Given the description of an element on the screen output the (x, y) to click on. 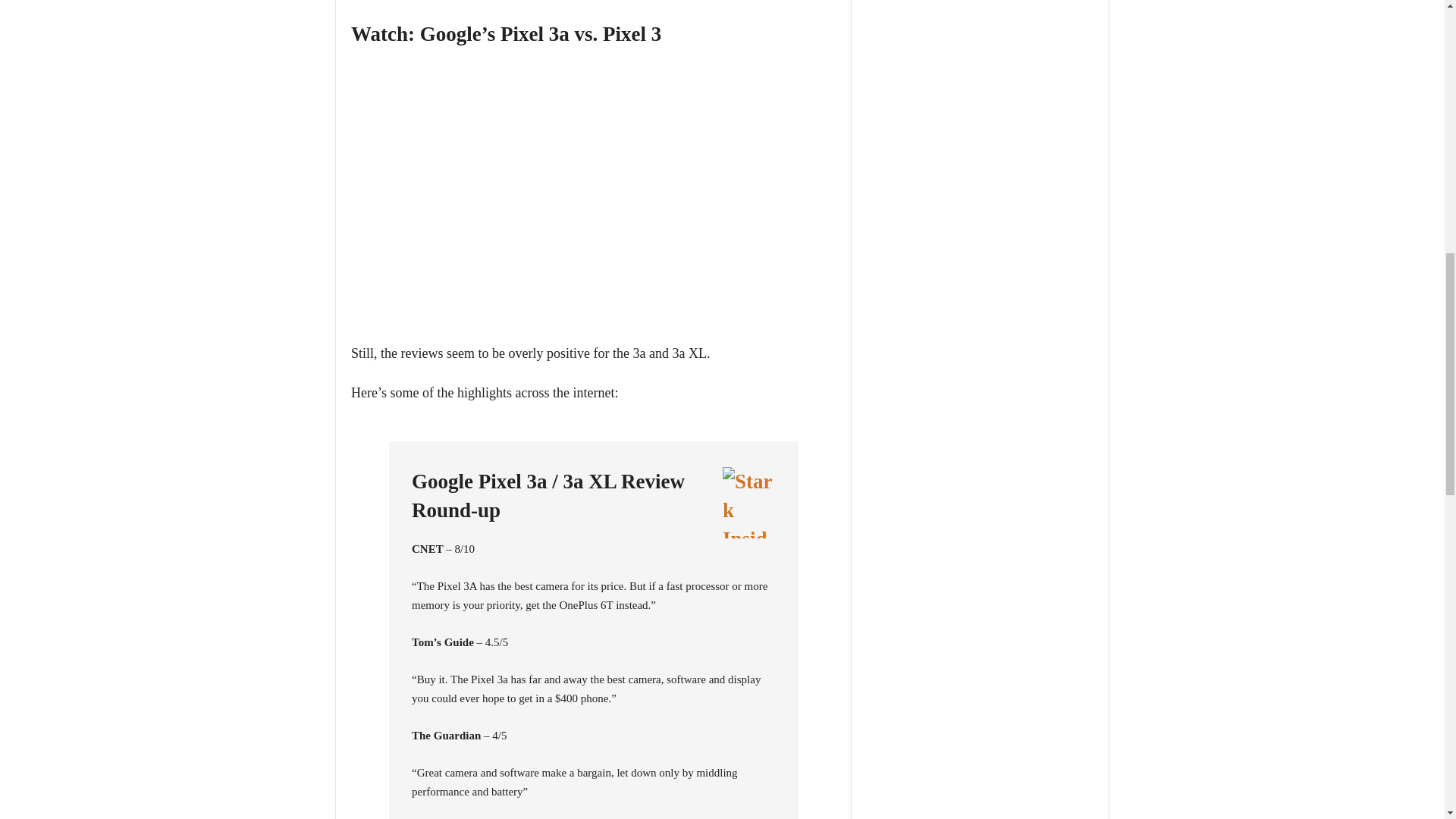
Pixel 3a vs Pixel 3 - Everything You Need To Know Right Now! (592, 199)
